Given the description of an element on the screen output the (x, y) to click on. 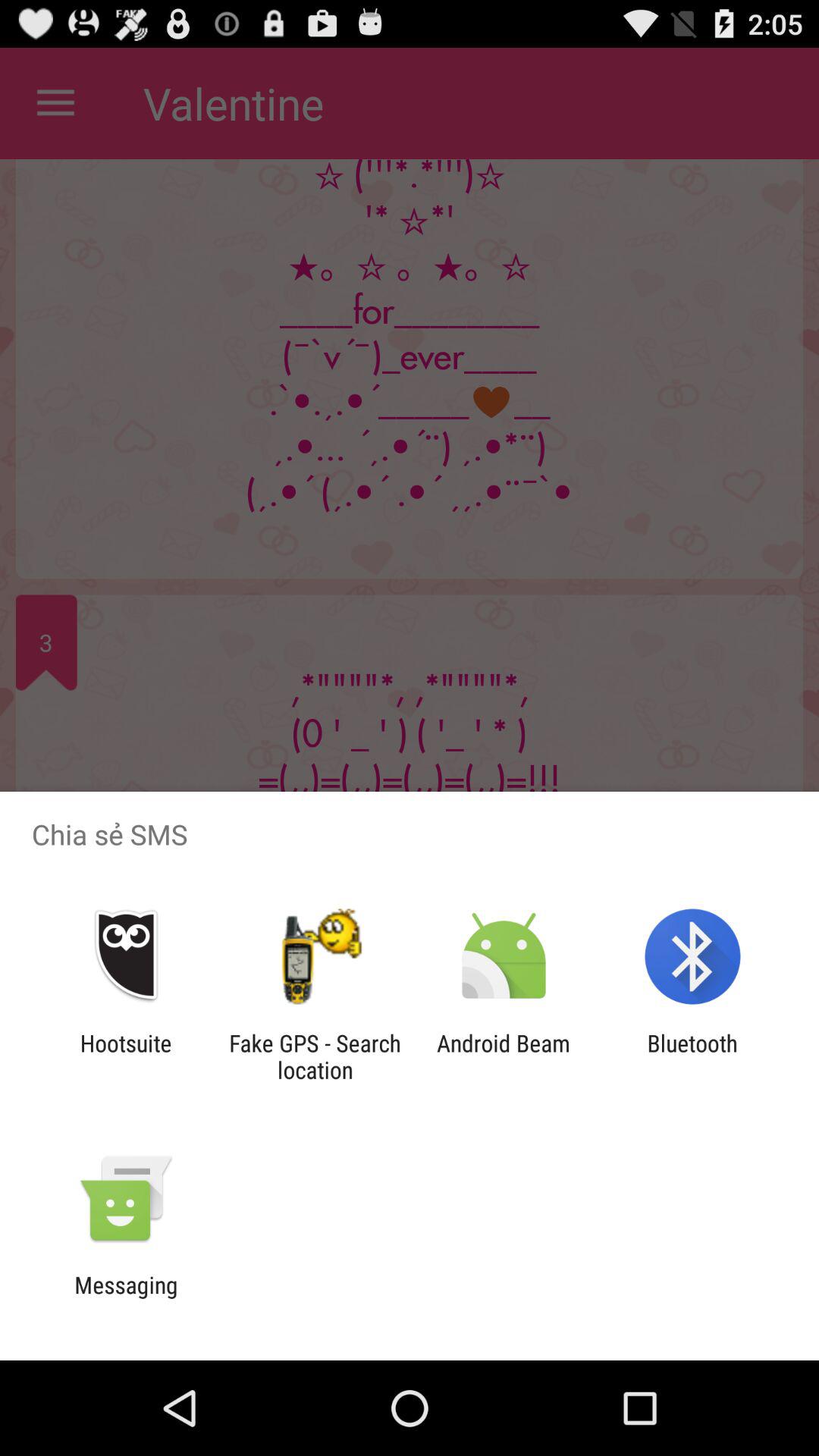
press messaging item (126, 1298)
